Given the description of an element on the screen output the (x, y) to click on. 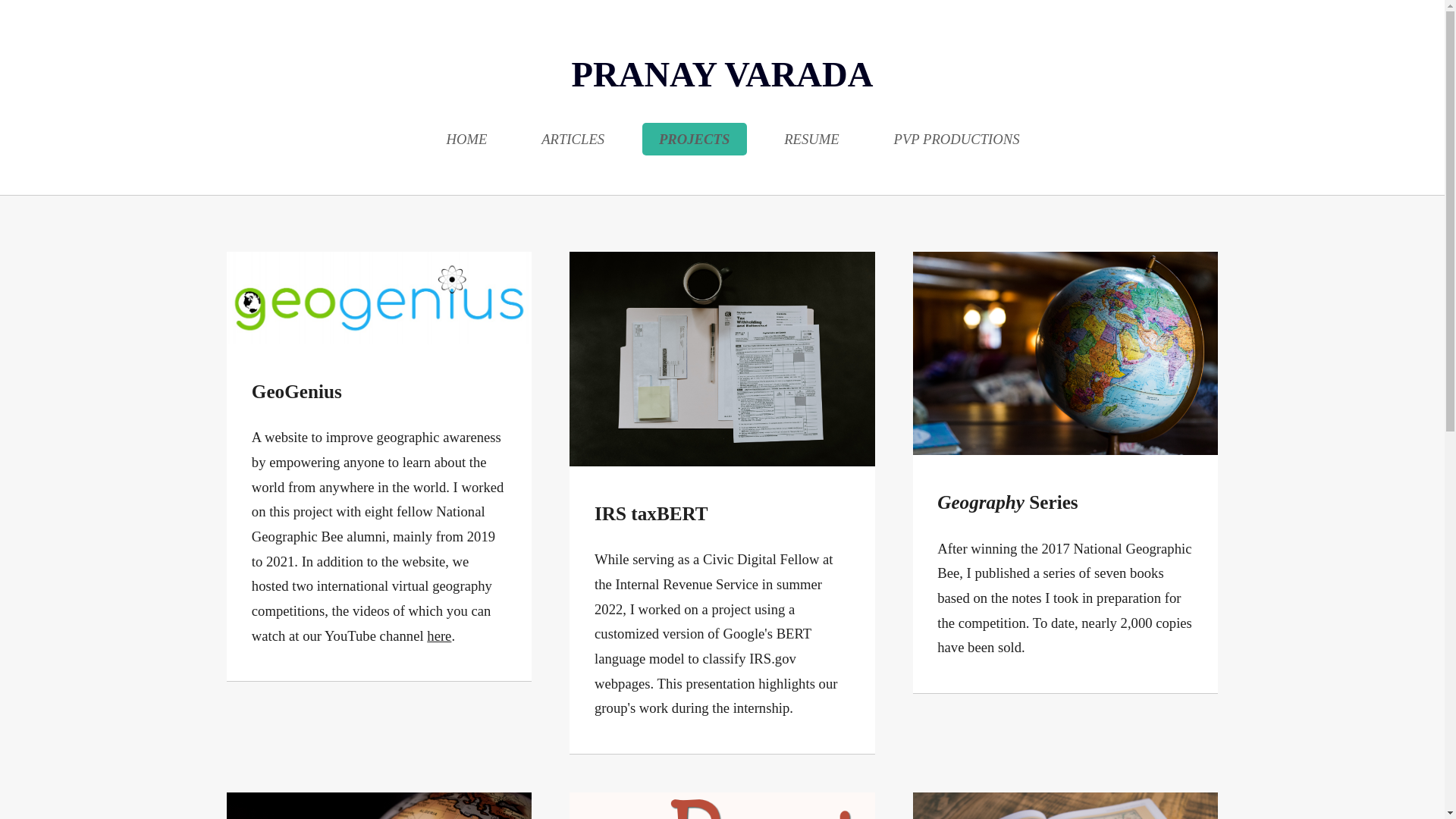
IRS taxBERT (650, 513)
Geography Series (1007, 502)
PROJECTS (694, 138)
PVP PRODUCTIONS (956, 138)
here (438, 635)
RESUME (811, 138)
GeoGenius (296, 391)
HOME (466, 138)
PRANAY VARADA (722, 74)
ARTICLES (572, 138)
